Given the description of an element on the screen output the (x, y) to click on. 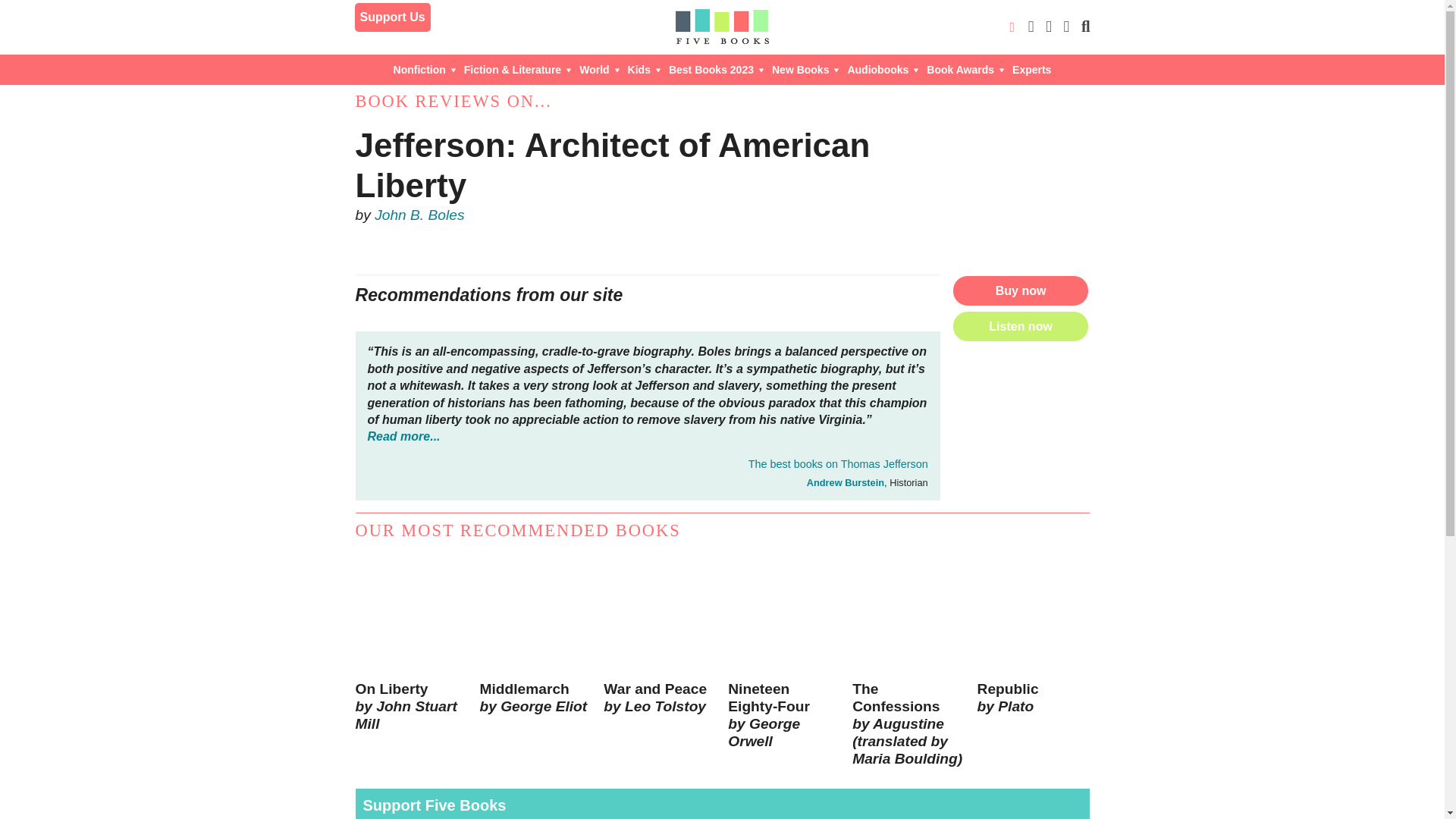
Jefferson: Architect of American Liberty by John B. Boles (1020, 194)
War and Peace (660, 660)
Republic (1032, 660)
Middlemarch (535, 660)
Support Us (392, 17)
Nonfiction (425, 69)
